Given the description of an element on the screen output the (x, y) to click on. 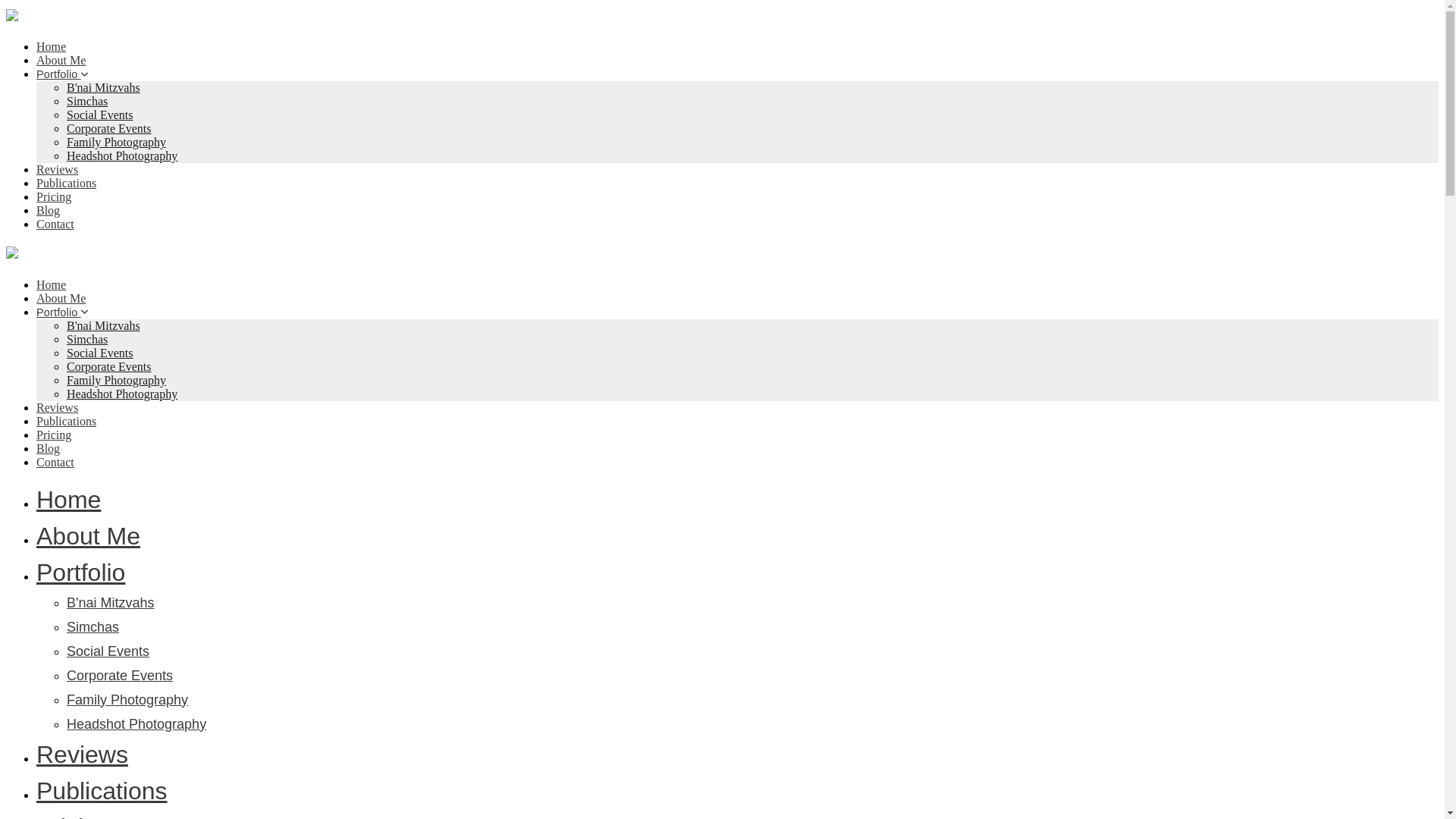
Family Photography (126, 699)
Portfolio (61, 312)
Pricing (53, 196)
About Me (87, 535)
Home (50, 284)
Pricing (53, 434)
Publications (66, 182)
Reviews (57, 169)
Simchas (86, 338)
B'nai Mitzvahs (110, 602)
Corporate Events (108, 366)
Headshot Photography (136, 724)
Headshot Photography (121, 393)
Family Photography (115, 141)
Blog (47, 210)
